Given the description of an element on the screen output the (x, y) to click on. 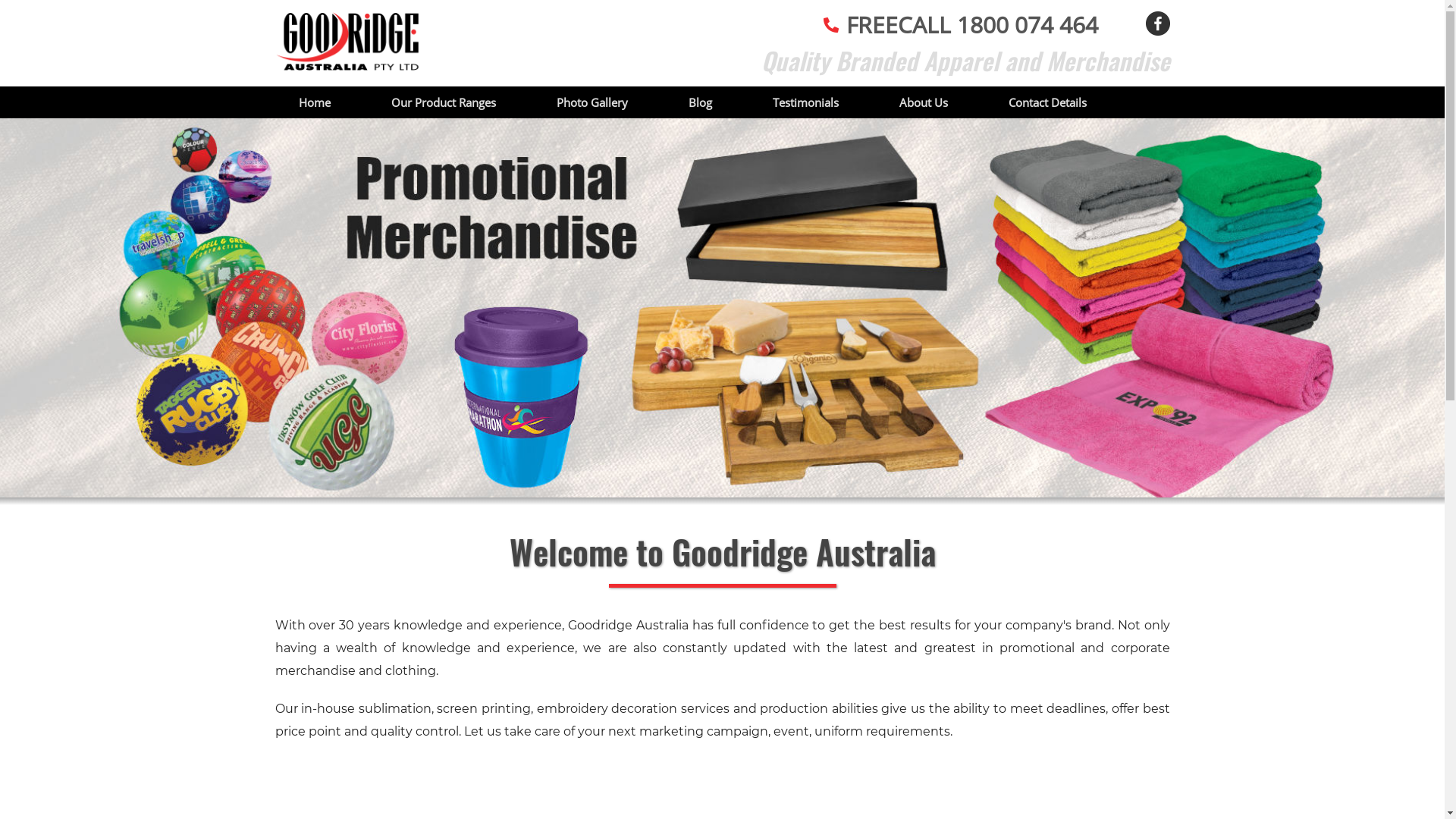
Blog Element type: text (700, 102)
Testimonials Element type: text (804, 102)
Photo Gallery Element type: text (592, 102)
About Us Element type: text (923, 102)
Home Element type: text (314, 102)
Our Product Ranges Element type: text (443, 102)
Contact Details Element type: text (1047, 102)
